Given the description of an element on the screen output the (x, y) to click on. 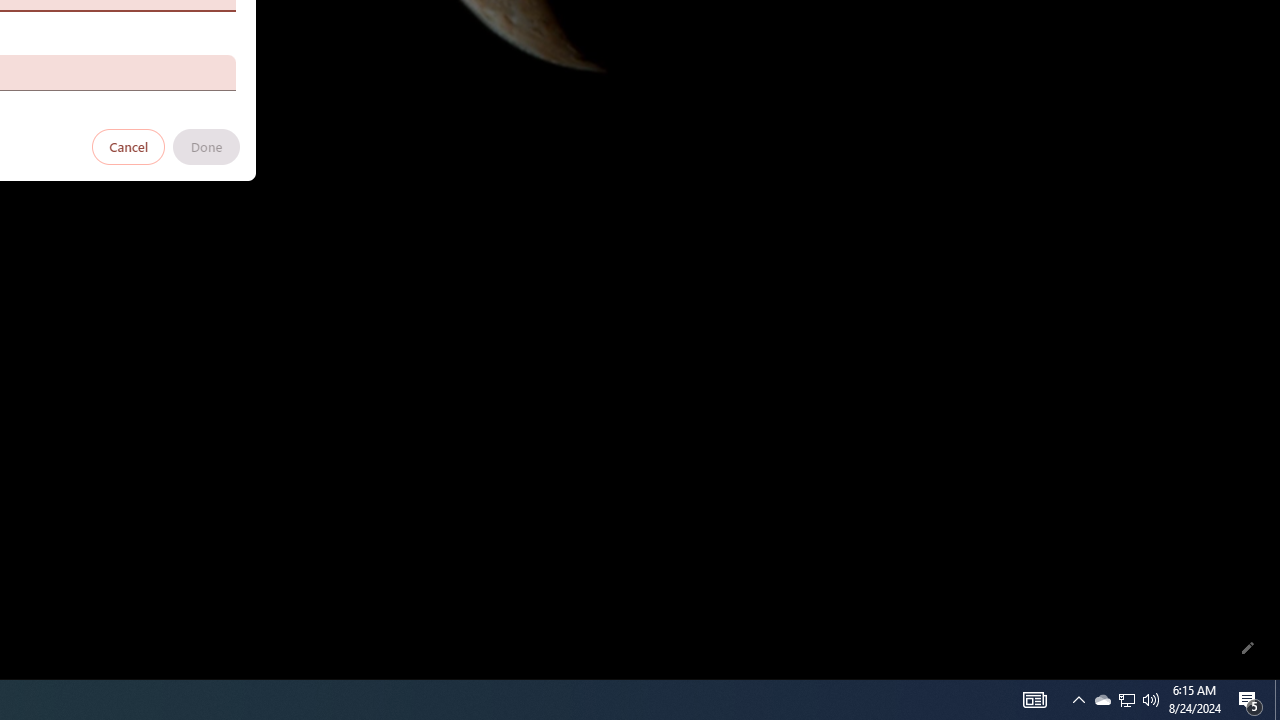
Done (206, 146)
Cancel (129, 146)
